Given the description of an element on the screen output the (x, y) to click on. 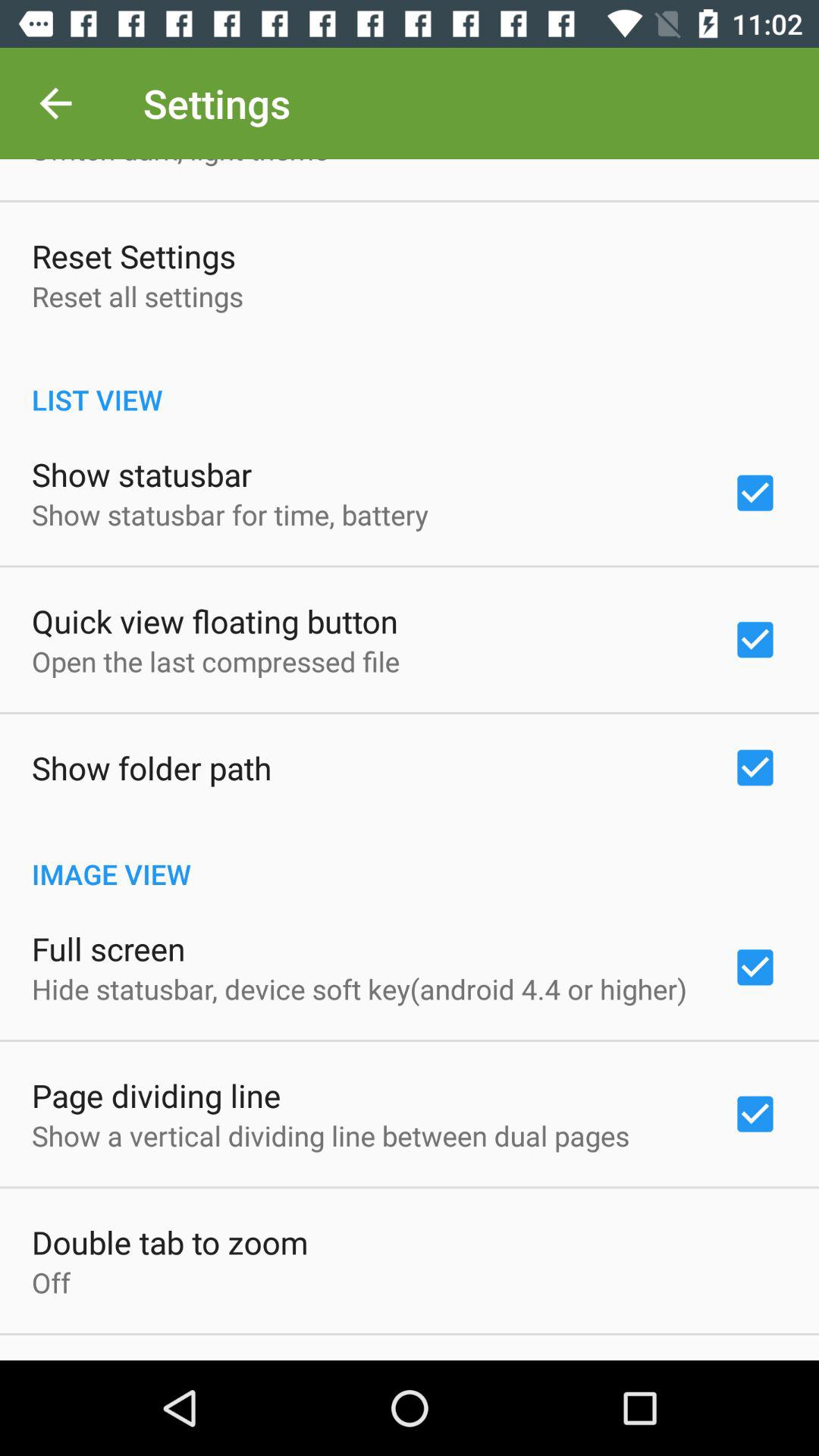
select item below open the last item (151, 767)
